Given the description of an element on the screen output the (x, y) to click on. 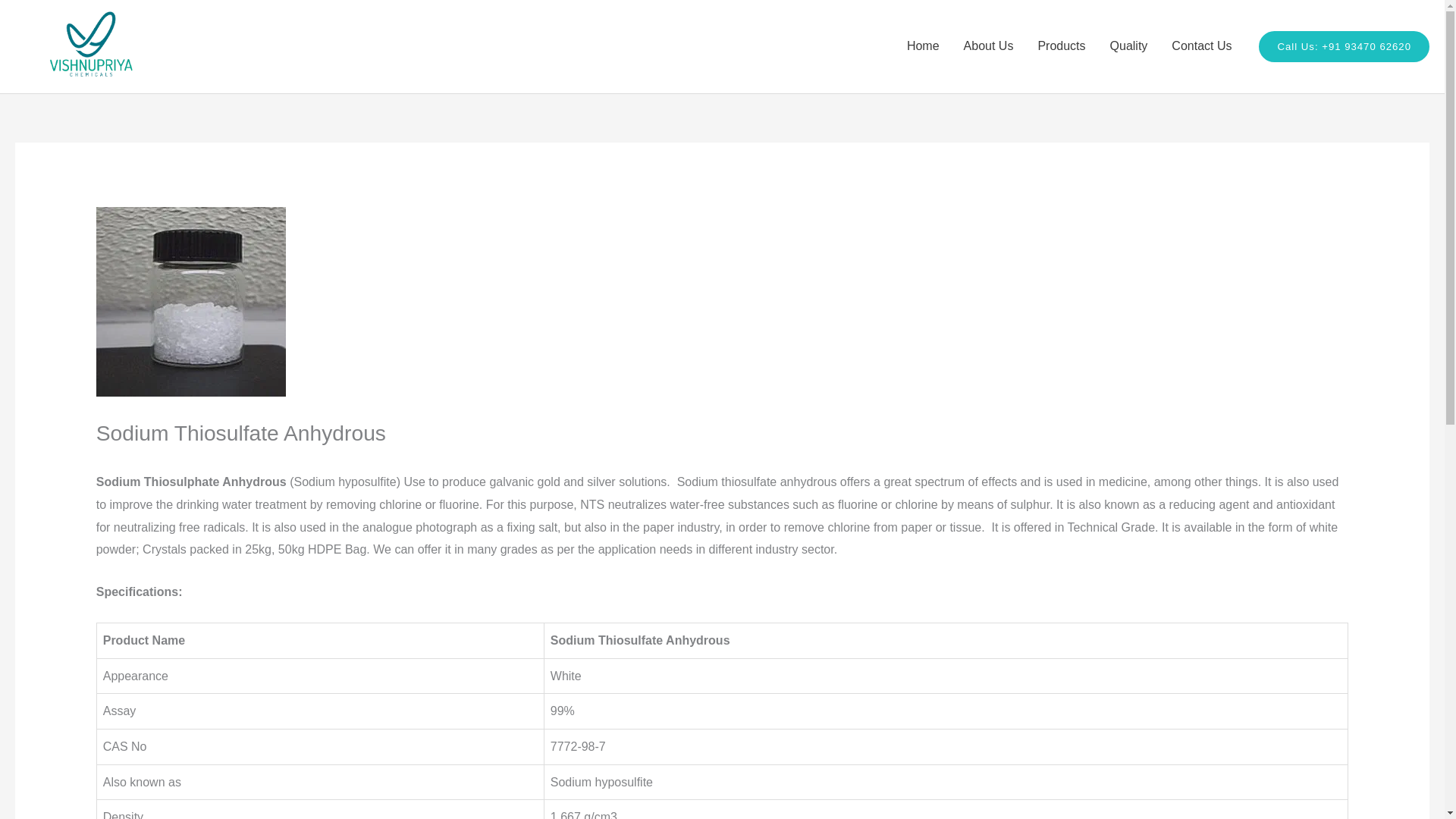
Products (1061, 45)
Contact Us (1200, 45)
About Us (989, 45)
Quality (1128, 45)
Home (923, 45)
